Given the description of an element on the screen output the (x, y) to click on. 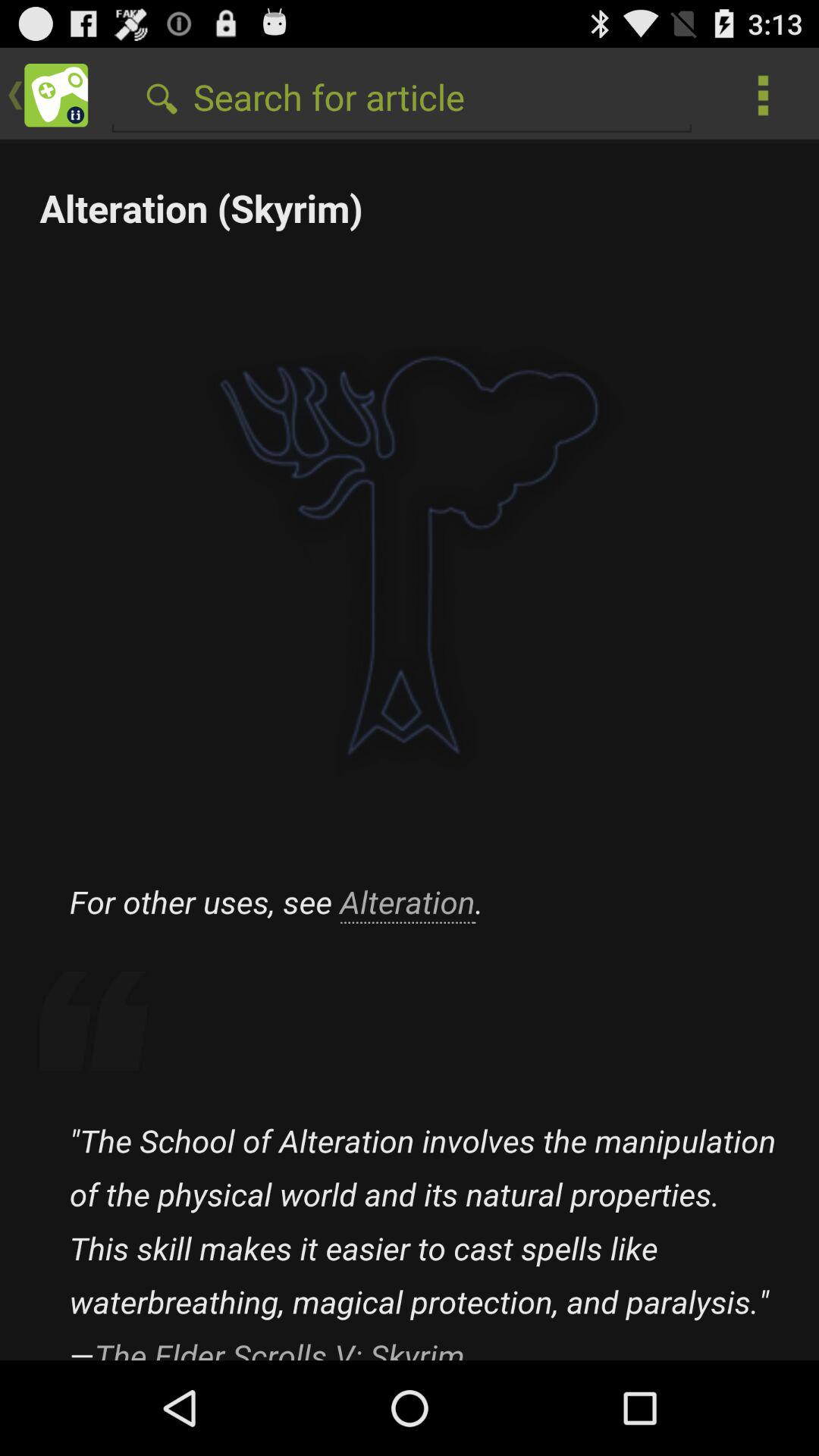
go to image (409, 751)
